Given the description of an element on the screen output the (x, y) to click on. 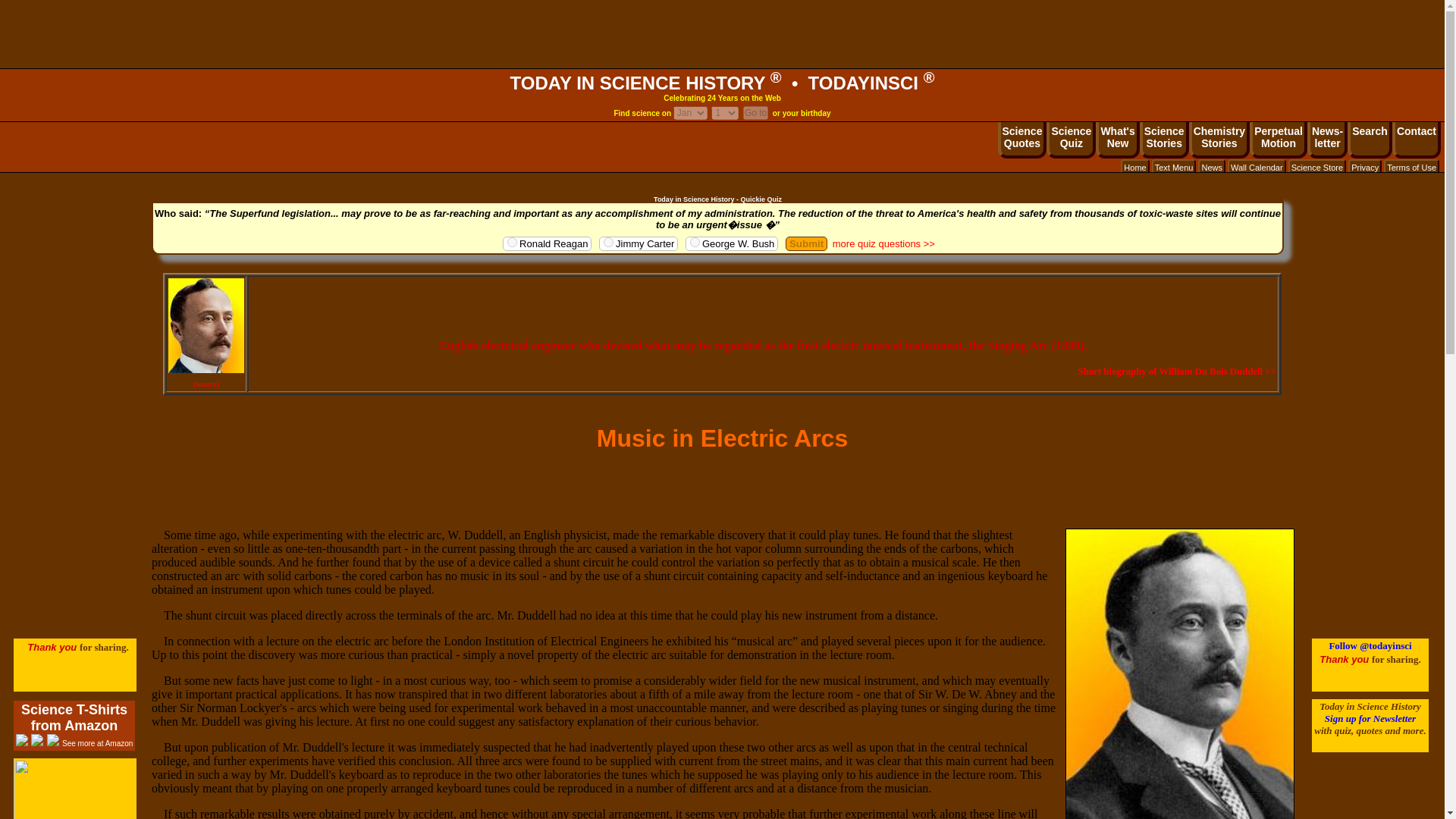
Select Month first, and then Day (689, 112)
William Du Bois Duddell (206, 325)
Terms of Use (1219, 140)
Home (1411, 167)
Search the site (1071, 140)
Search (1134, 167)
Our Science Store books and more (1369, 140)
Contact (1369, 140)
Index to Science Quiz (1327, 140)
Home (1316, 167)
Select Month first (1021, 140)
